Given the description of an element on the screen output the (x, y) to click on. 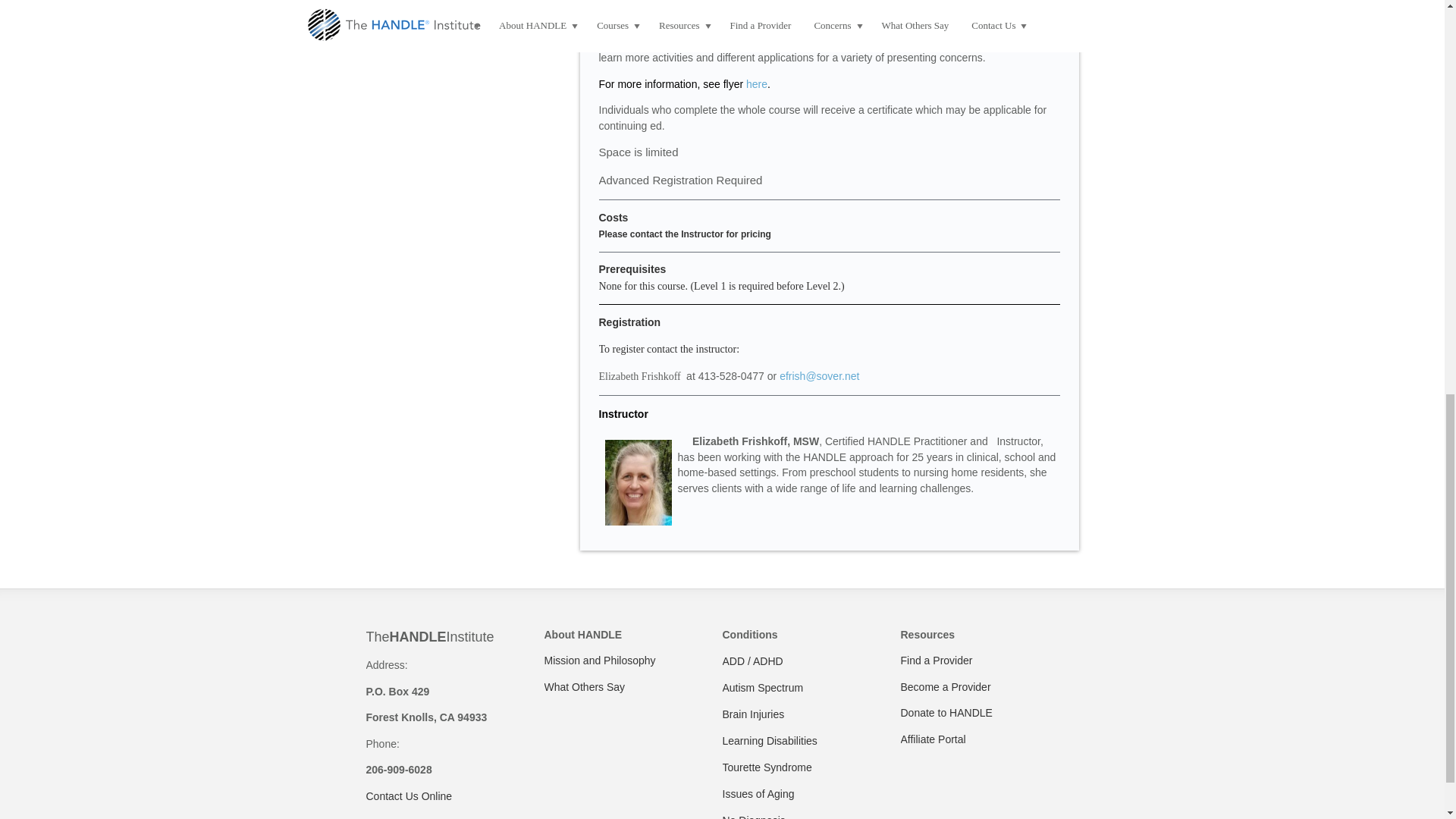
Brain Injuries (753, 714)
Tourette Syndrome (766, 767)
here (756, 83)
Learning Disabilities (769, 740)
Autism Spectrum (762, 687)
Mission and Philosophy (600, 660)
Contact Us Online (408, 796)
Issues of Aging (757, 793)
What Others Say (585, 686)
